Given the description of an element on the screen output the (x, y) to click on. 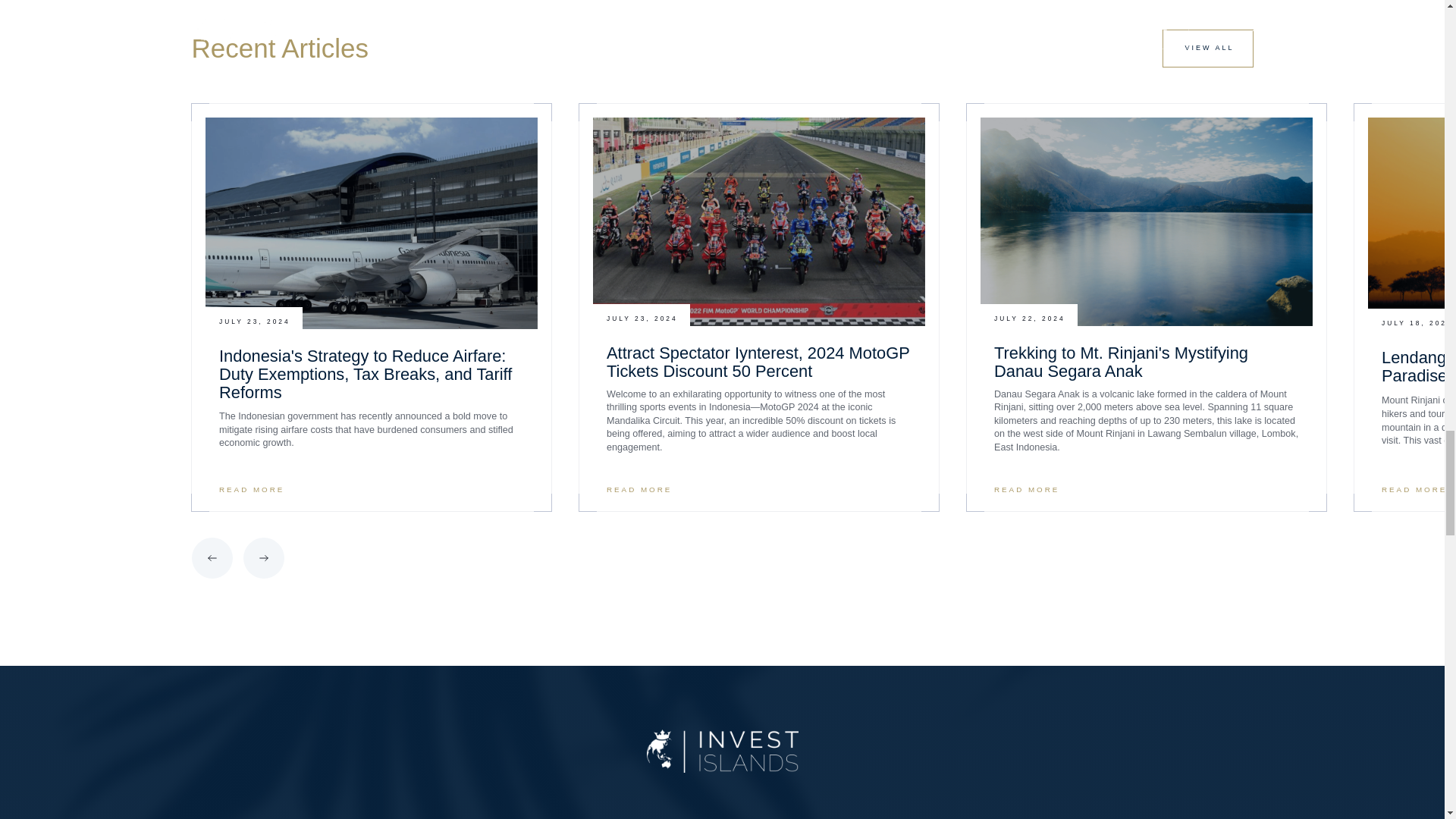
VIEW ALL (1206, 48)
